Given the description of an element on the screen output the (x, y) to click on. 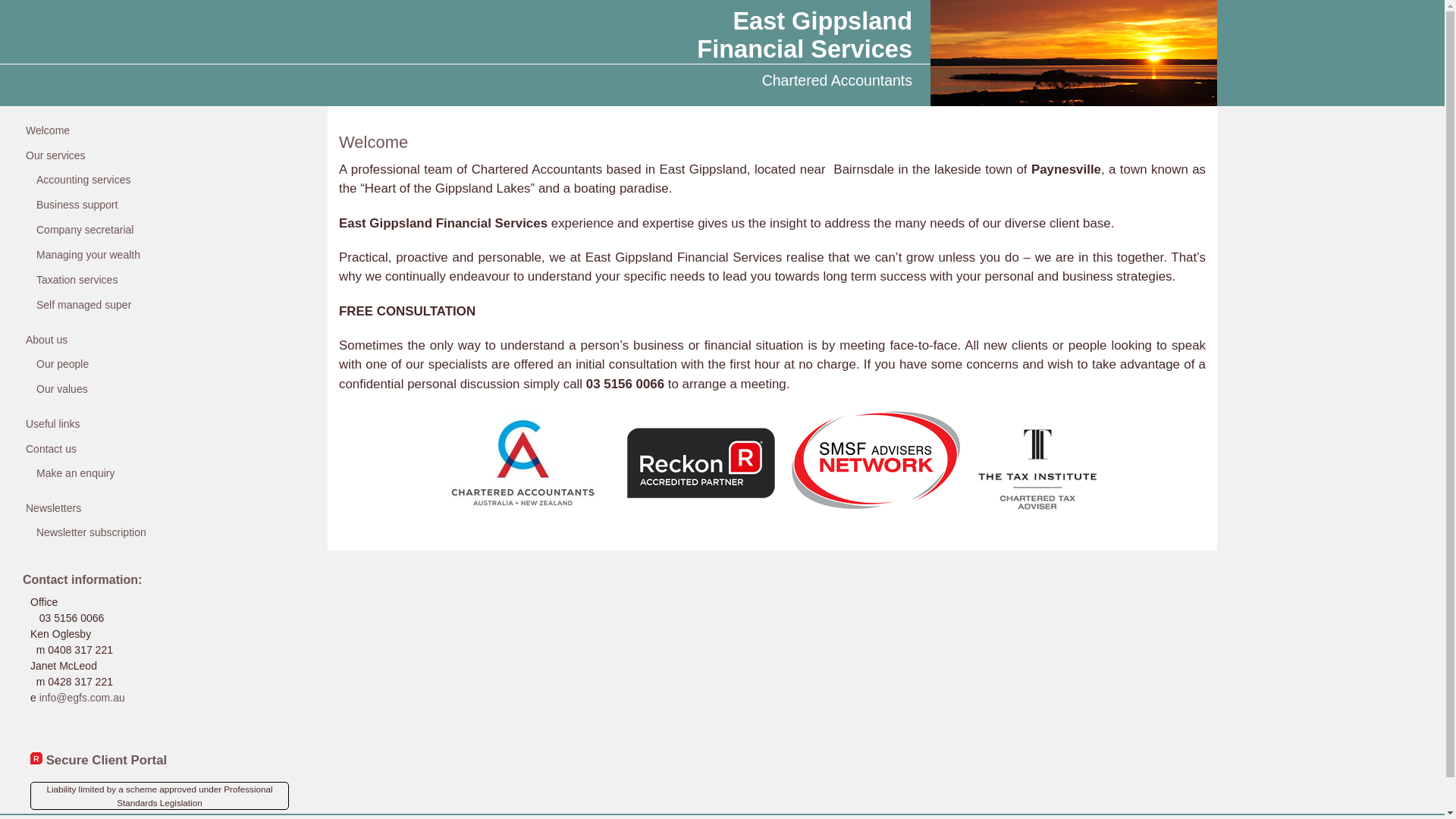
About us Element type: text (46, 339)
Useful links Element type: text (52, 423)
Self managed super Element type: text (83, 304)
Contact us Element type: text (50, 448)
Welcome Element type: text (47, 130)
Taxation services Element type: text (76, 279)
Managing your wealth Element type: text (88, 254)
Make an enquiry Element type: text (75, 473)
Company secretarial Element type: text (84, 229)
Accounting services Element type: text (83, 179)
Our people Element type: text (62, 363)
Our values Element type: text (61, 388)
Newsletter subscription Element type: text (91, 532)
SMSF Advisors Network Element type: hover (875, 506)
The Tax Institute Element type: hover (1037, 506)
Our services Element type: text (55, 155)
Newsletters Element type: text (53, 508)
Secure Client Portal Element type: text (98, 760)
info@egfs.com.au Element type: text (82, 697)
Business support Element type: text (76, 204)
Chartered Accountants Australia Element type: hover (522, 506)
Reckon Accredited Partner Element type: hover (700, 506)
